Given the description of an element on the screen output the (x, y) to click on. 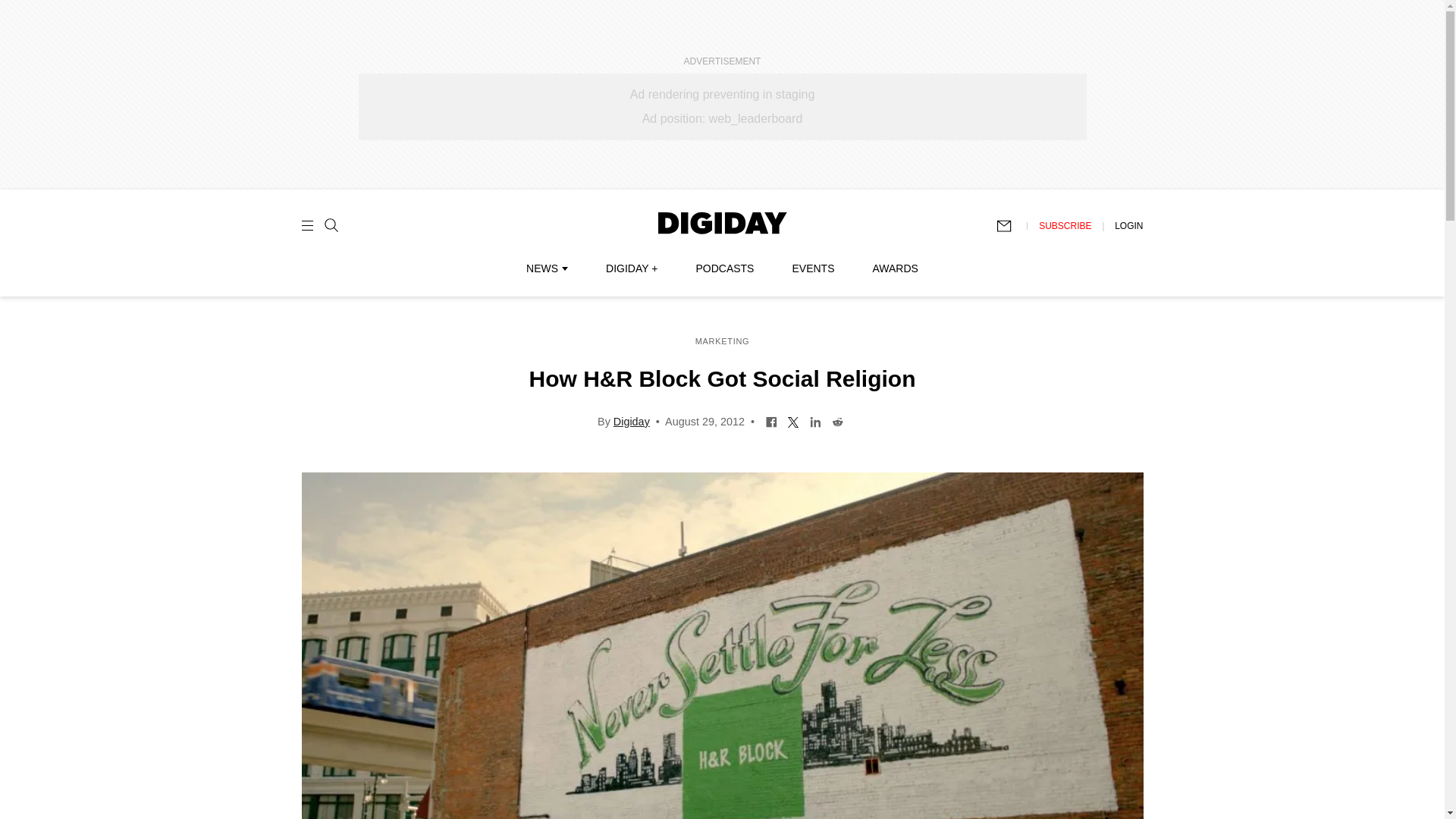
PODCASTS (725, 267)
Subscribe (1010, 225)
SUBSCRIBE (1064, 225)
Share on Twitter (793, 420)
LOGIN (1128, 225)
EVENTS (813, 267)
Share on Reddit (837, 420)
Share on LinkedIn (815, 420)
Share on Facebook (771, 420)
NEWS (546, 267)
